Given the description of an element on the screen output the (x, y) to click on. 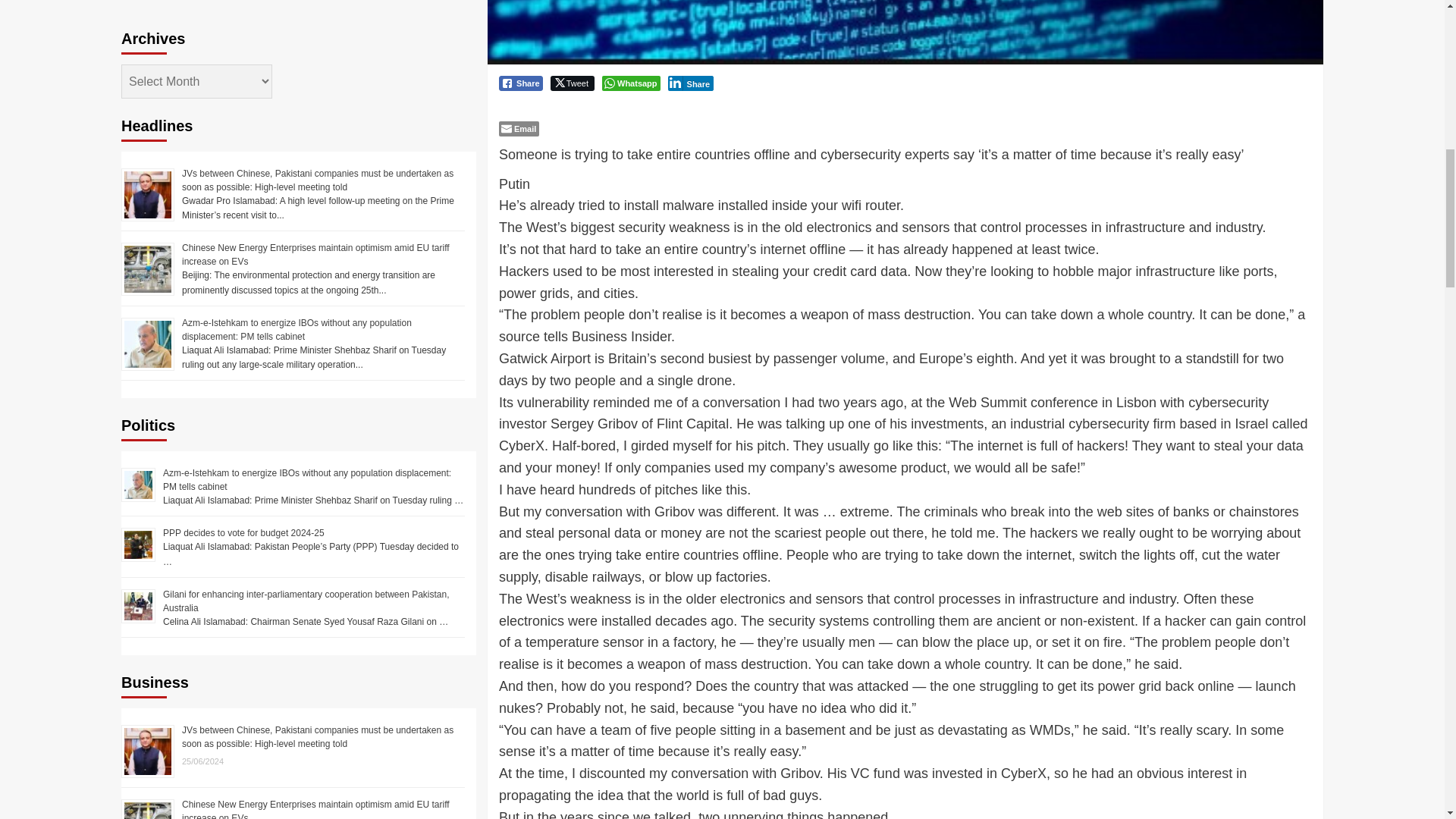
Share (521, 83)
Whatsapp (631, 83)
Tweet (572, 83)
Email (518, 128)
Share (691, 83)
